Given the description of an element on the screen output the (x, y) to click on. 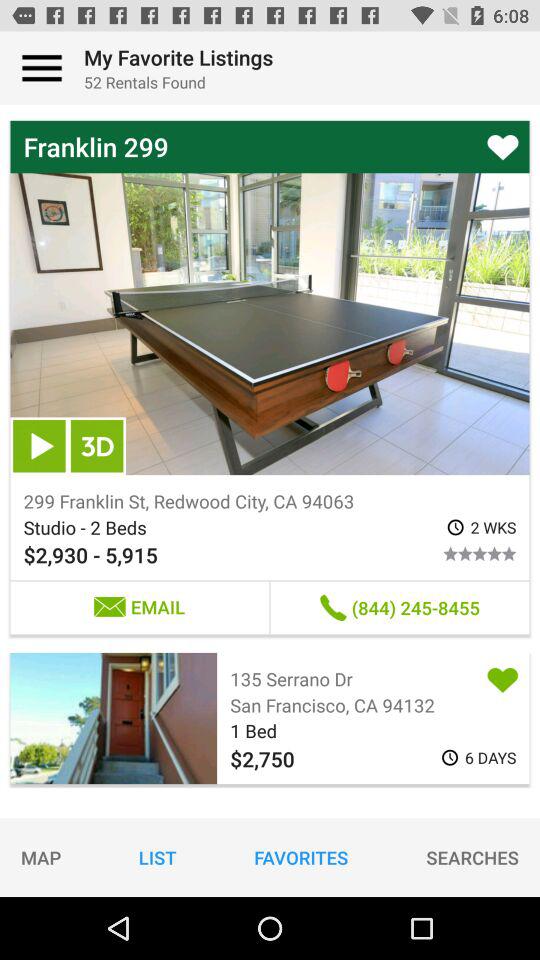
turn off item above the 299 franklin st (39, 446)
